Given the description of an element on the screen output the (x, y) to click on. 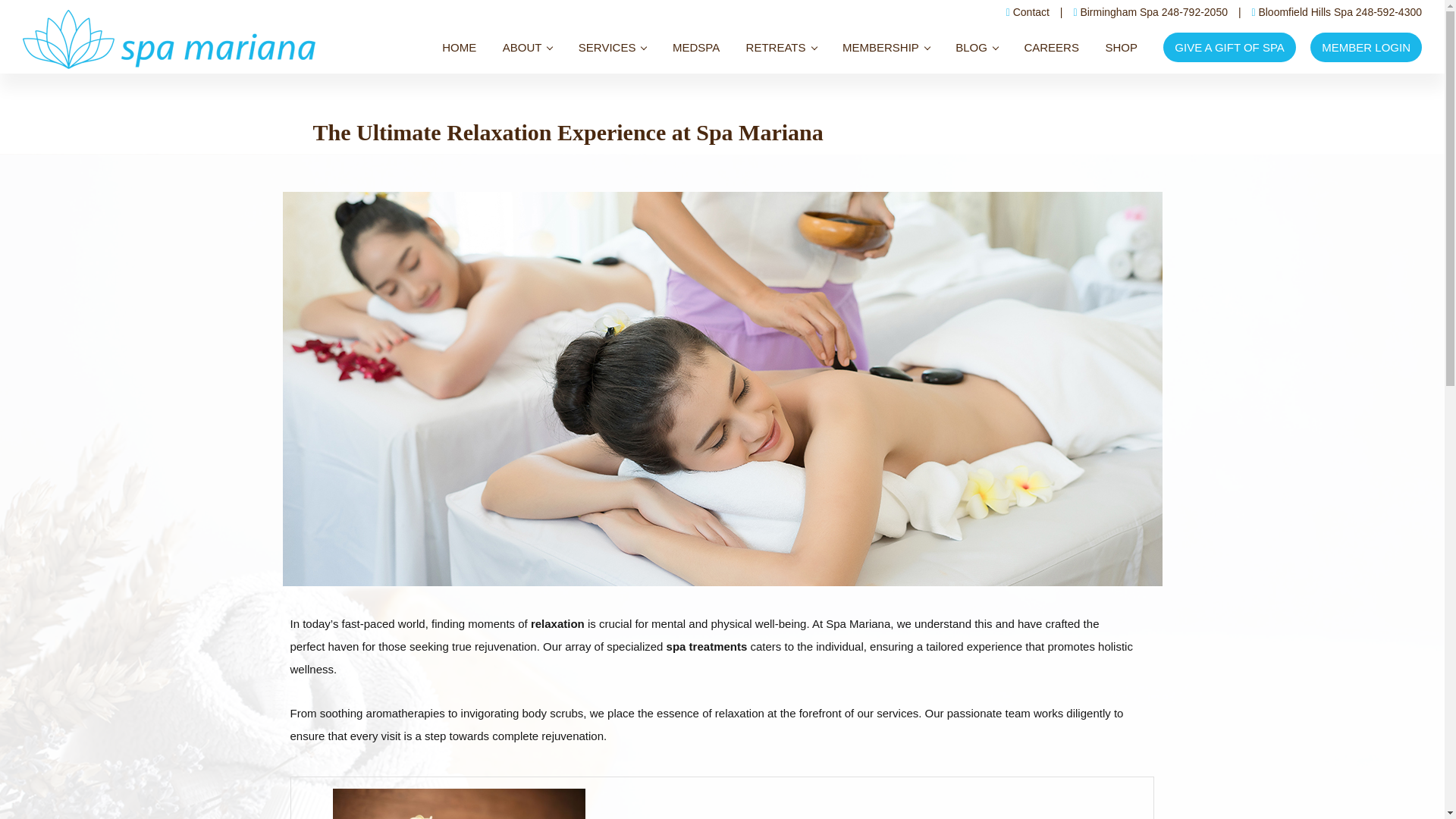
Bloomfield Hills Spa (1304, 11)
HOME (458, 47)
Birmingham Spa (1119, 11)
248-792-2050 (1194, 11)
ABOUT (528, 47)
Contact (1031, 11)
SERVICES (612, 47)
248-592-4300 (1388, 11)
RETREATS (781, 47)
